Given the description of an element on the screen output the (x, y) to click on. 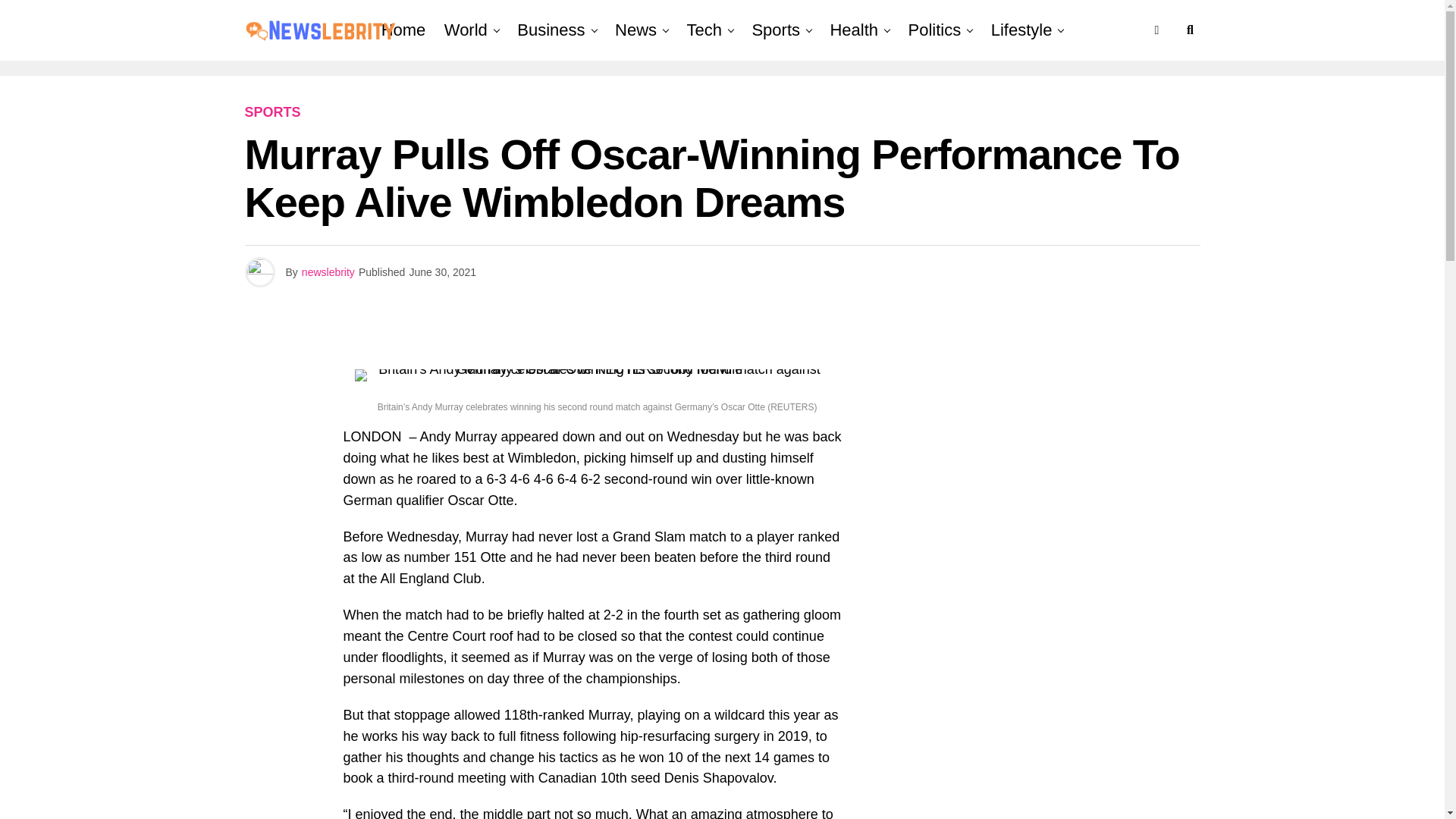
World (465, 30)
Sports (776, 30)
News (635, 30)
Health (853, 30)
Business (550, 30)
Posts by newslebrity (328, 272)
Home (403, 30)
